Given the description of an element on the screen output the (x, y) to click on. 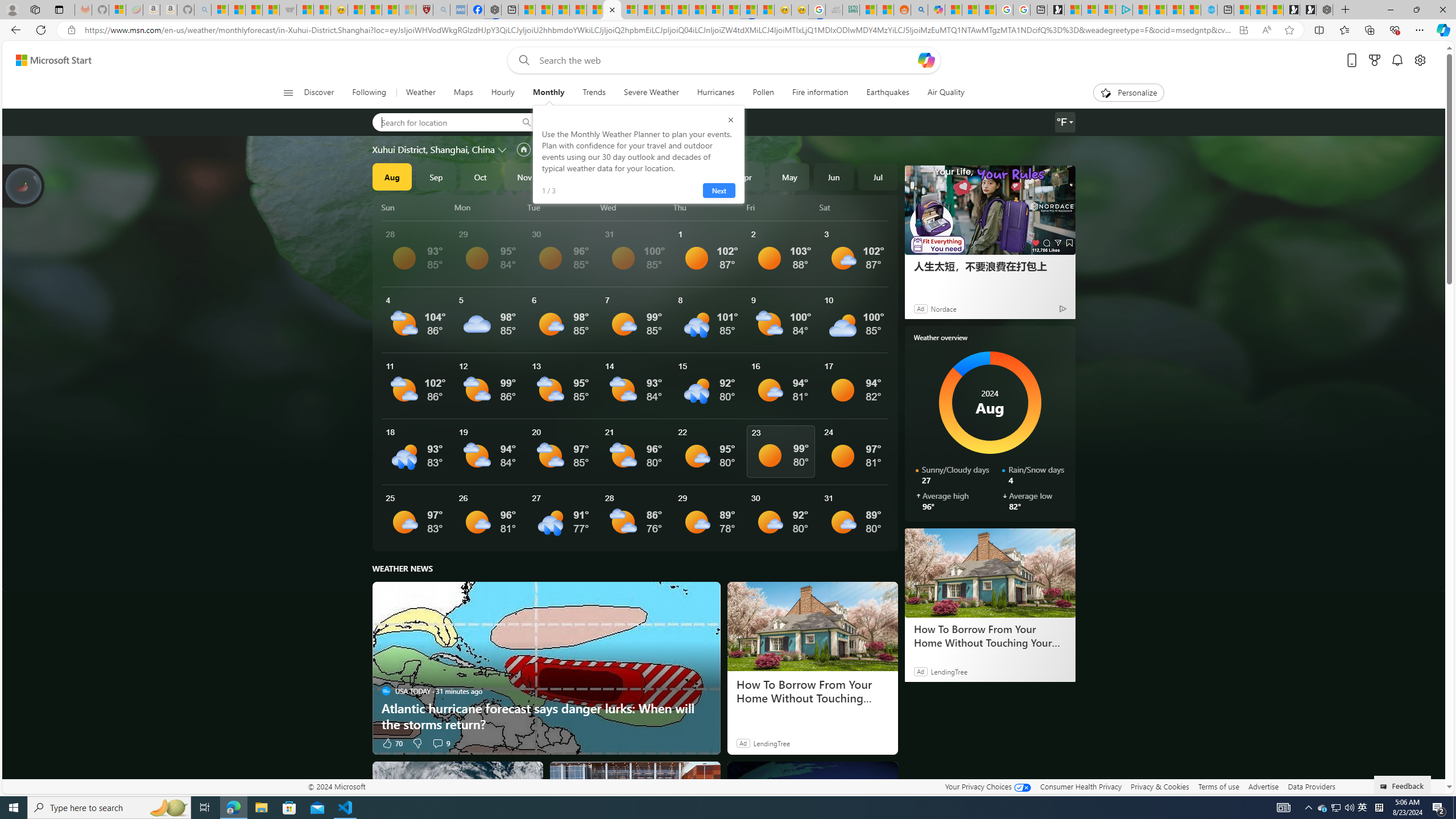
Your Privacy Choices (987, 786)
Hourly (502, 92)
Monthly (547, 92)
Mon (489, 207)
Monthly (548, 92)
Enter your search term (726, 59)
